Given the description of an element on the screen output the (x, y) to click on. 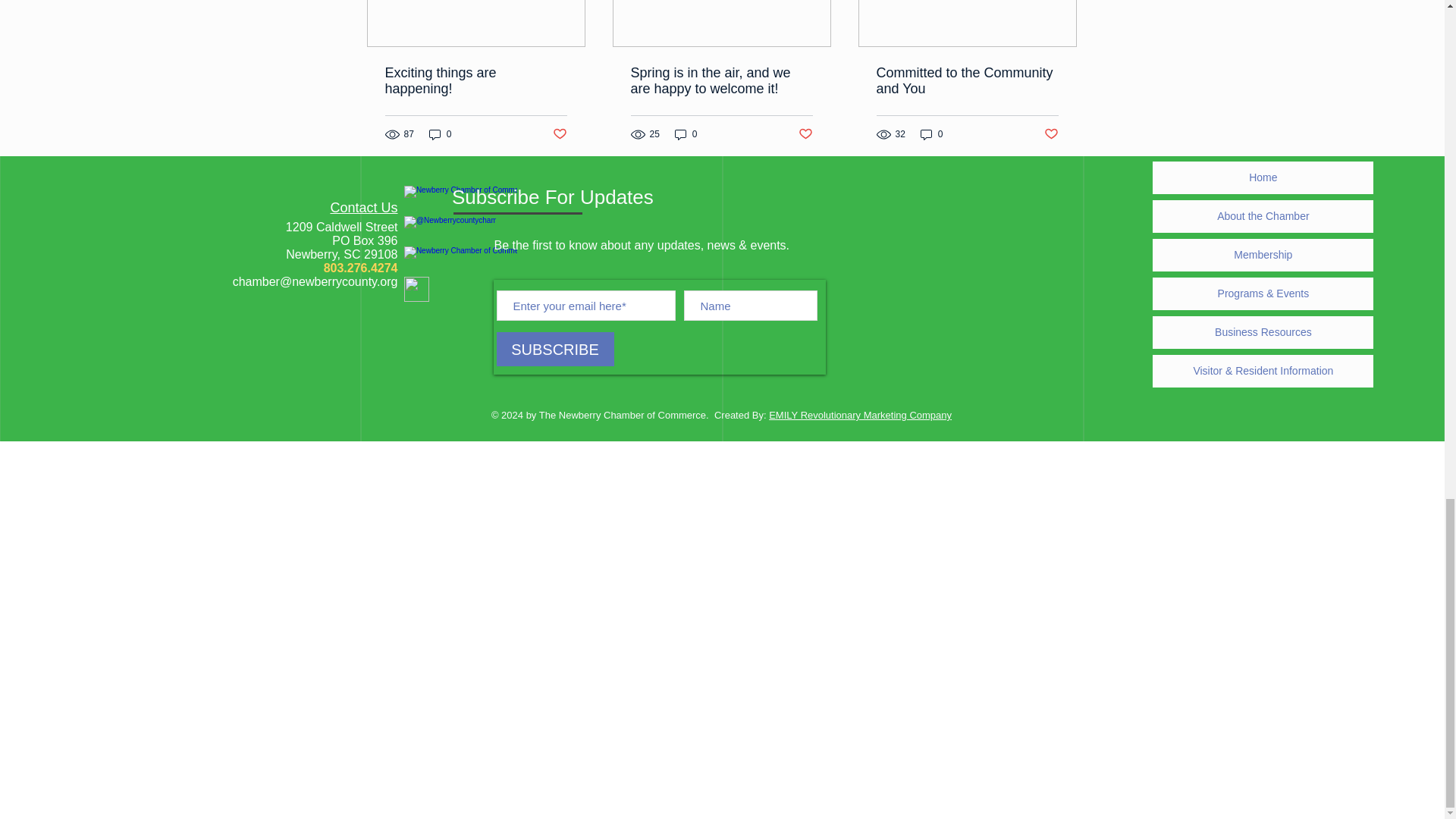
Exciting things are happening! (476, 81)
Post not marked as liked (1050, 133)
Committed to the Community and You (967, 81)
0 (931, 134)
Spring is in the air, and we are happy to welcome it! (721, 81)
Post not marked as liked (558, 133)
0 (440, 134)
0 (685, 134)
Post not marked as liked (804, 133)
